Given the description of an element on the screen output the (x, y) to click on. 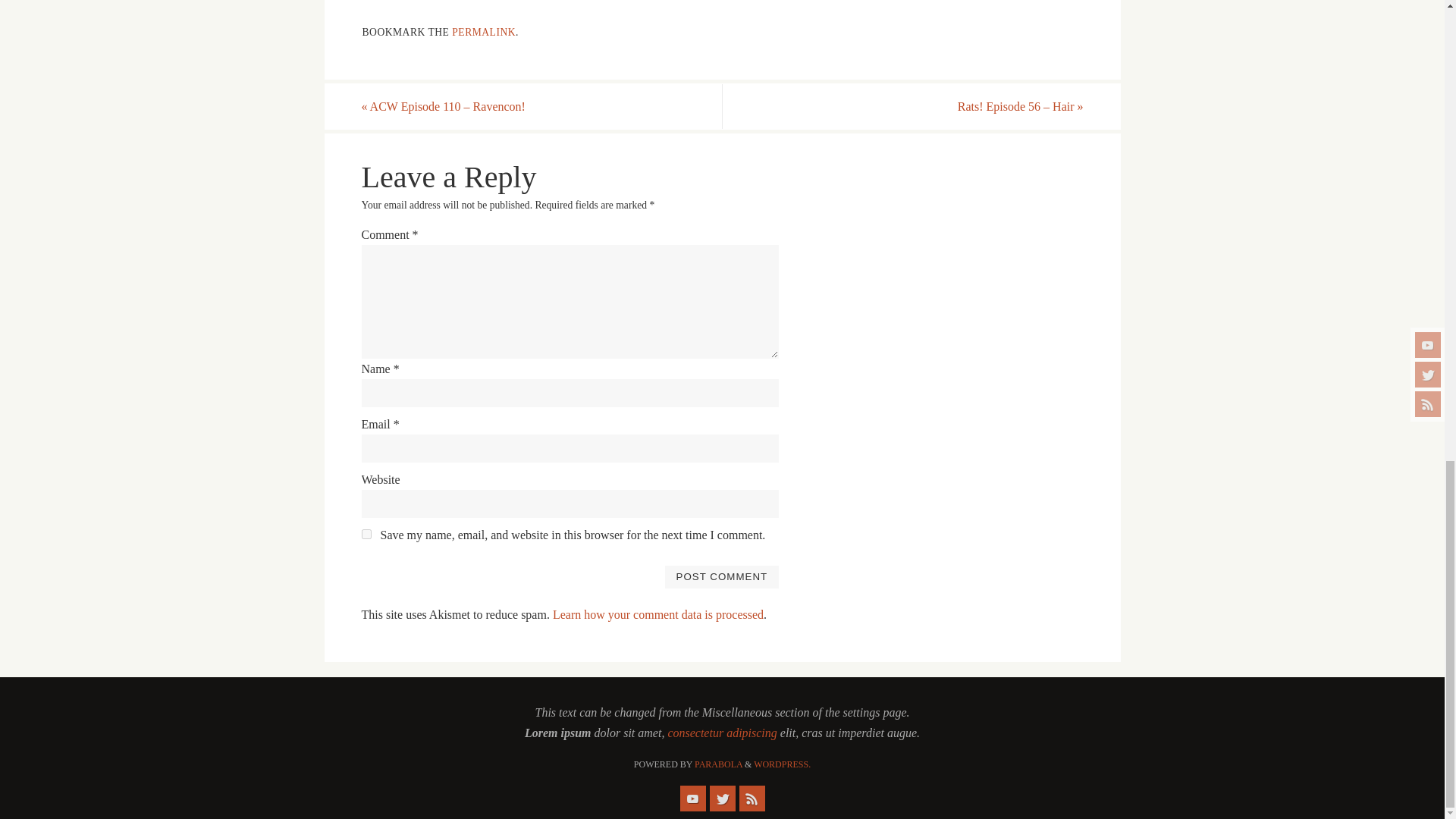
Post Comment (721, 576)
consectetur adipiscing (721, 732)
PERMALINK (483, 31)
Parabola Theme by Cryout Creations (718, 764)
Post Comment (721, 576)
Learn how your comment data is processed (657, 614)
Semantic Personal Publishing Platform (782, 764)
WORDPRESS. (782, 764)
Twitter (722, 798)
YouTube (691, 798)
